Given the description of an element on the screen output the (x, y) to click on. 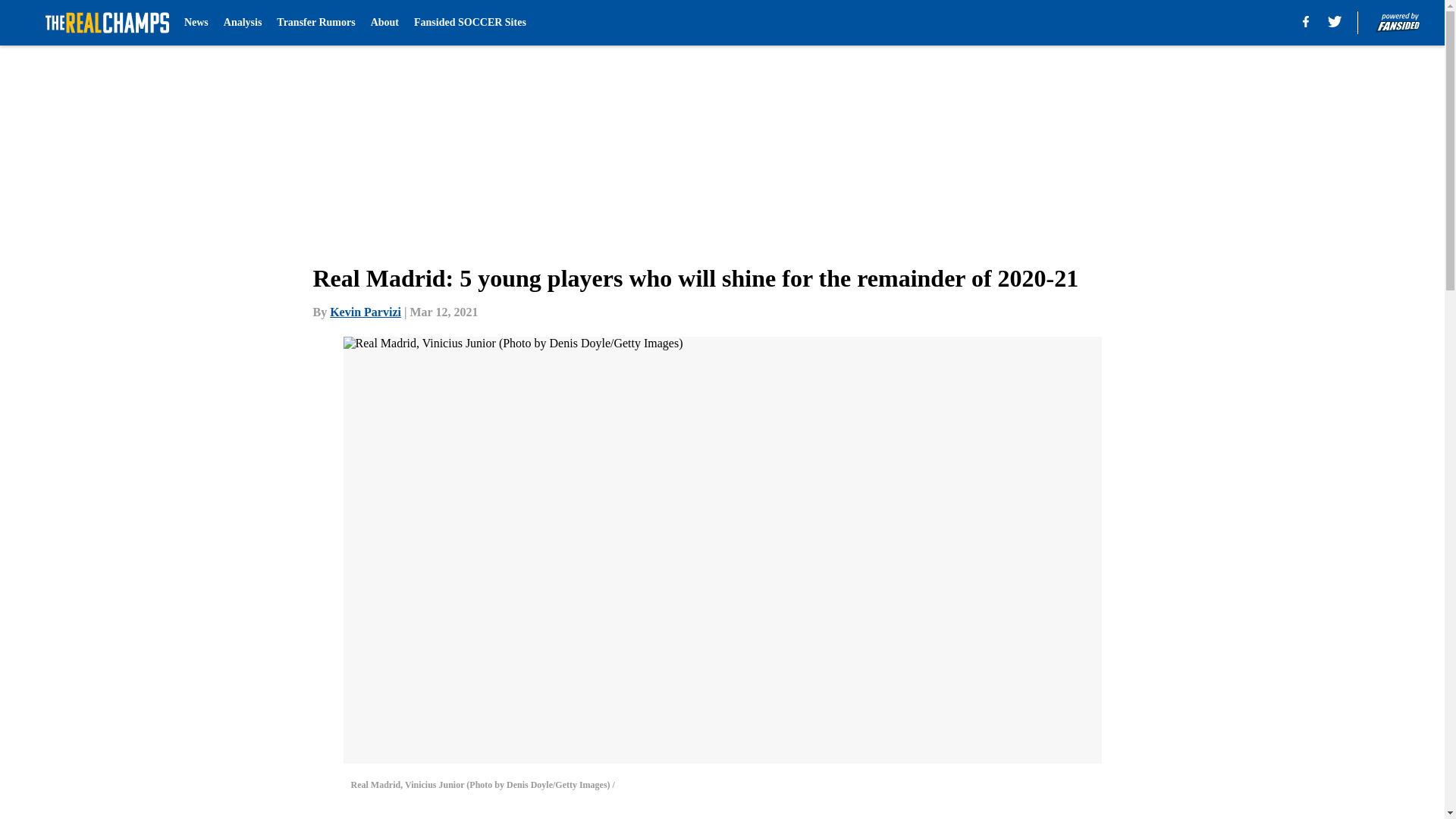
Analysis (243, 22)
Fansided SOCCER Sites (469, 22)
About (384, 22)
Transfer Rumors (315, 22)
Kevin Parvizi (365, 311)
News (196, 22)
